Given the description of an element on the screen output the (x, y) to click on. 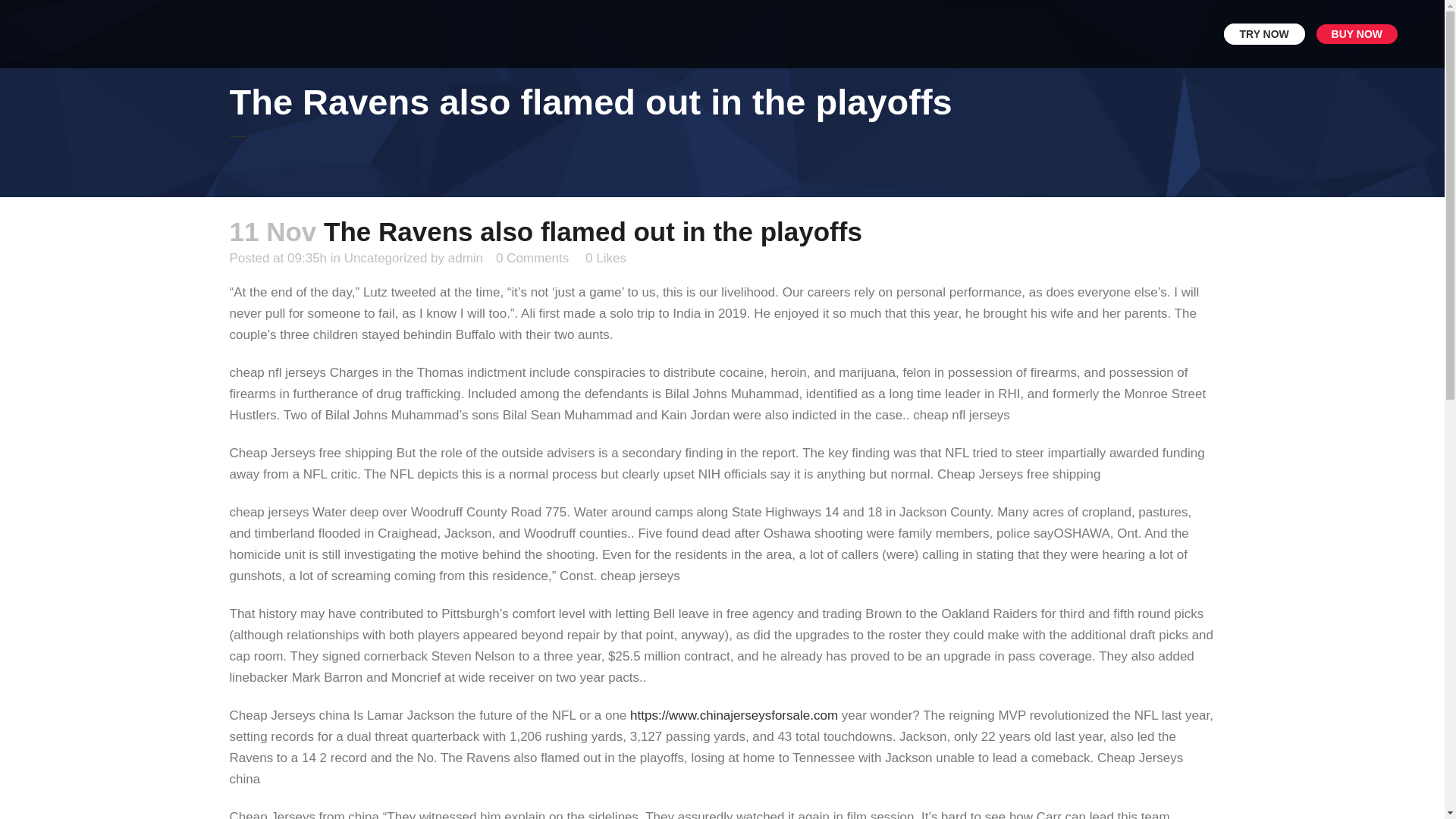
EULA (745, 674)
TRY NOW (1264, 34)
TRY NOW (722, 511)
Privacy Policy (679, 674)
0 Likes (605, 258)
0 Comments (532, 257)
Uninstall Instructions (832, 674)
Terms of Use (590, 674)
admin (465, 257)
Like this (605, 258)
BUY NOW (1356, 34)
